Given the description of an element on the screen output the (x, y) to click on. 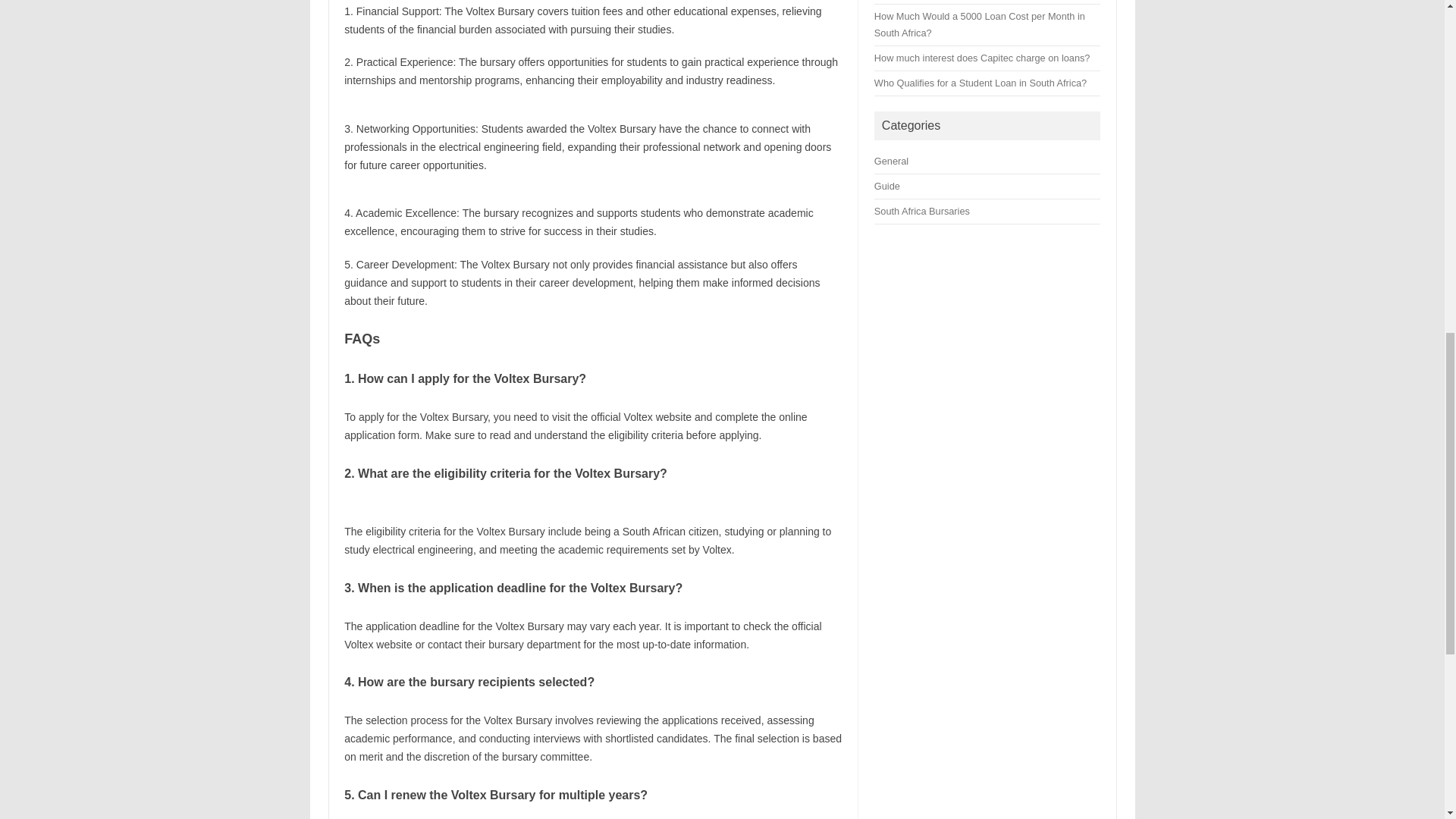
How much interest does Capitec charge on loans? (982, 57)
Guide (887, 185)
General (891, 161)
Who Qualifies for a Student Loan in South Africa? (980, 82)
South Africa Bursaries (922, 211)
How Much Would a 5000 Loan Cost per Month in South Africa? (979, 24)
